Given the description of an element on the screen output the (x, y) to click on. 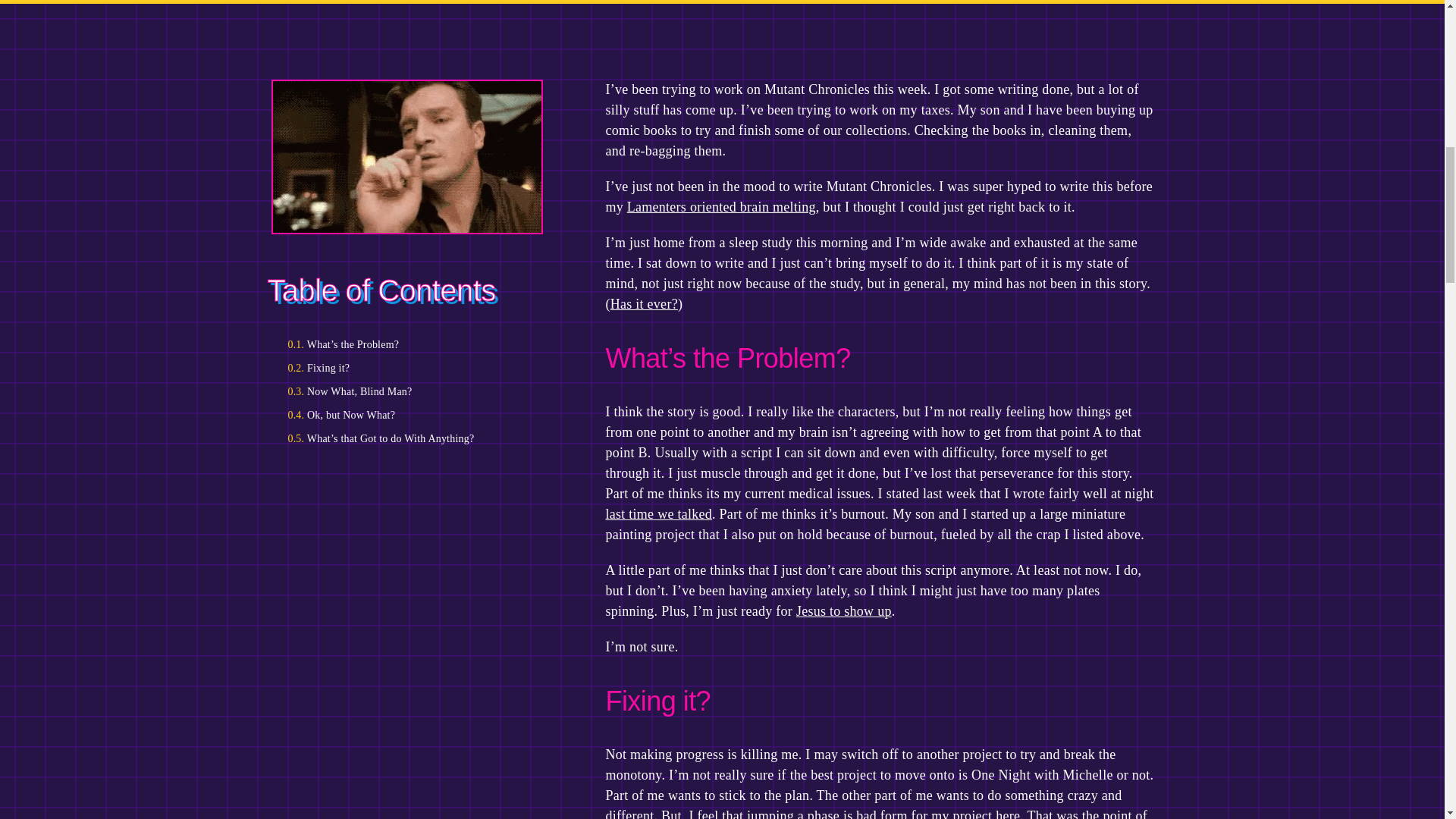
Fixing it? (412, 368)
last time we talked (658, 513)
Has it ever? (644, 304)
Ok, but Now What? (412, 414)
Jesus to show up (843, 611)
Now What, Blind Man? (412, 391)
castle-ahh (407, 156)
Lamenters oriented brain melting (721, 206)
